Given the description of an element on the screen output the (x, y) to click on. 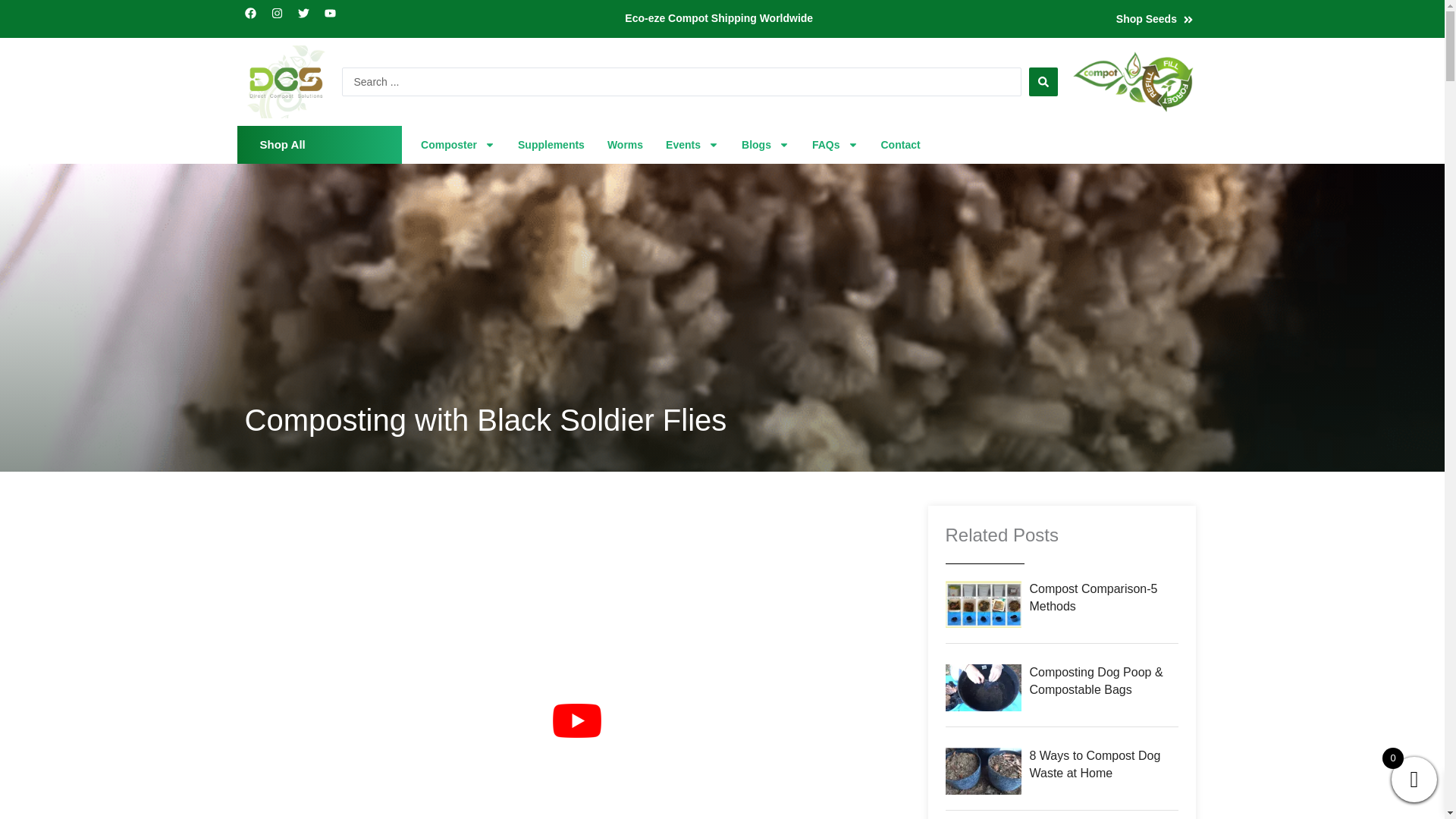
Youtube (335, 18)
Facebook (255, 18)
Twitter (308, 18)
Shop Seeds (1146, 19)
Instagram (282, 18)
